Given the description of an element on the screen output the (x, y) to click on. 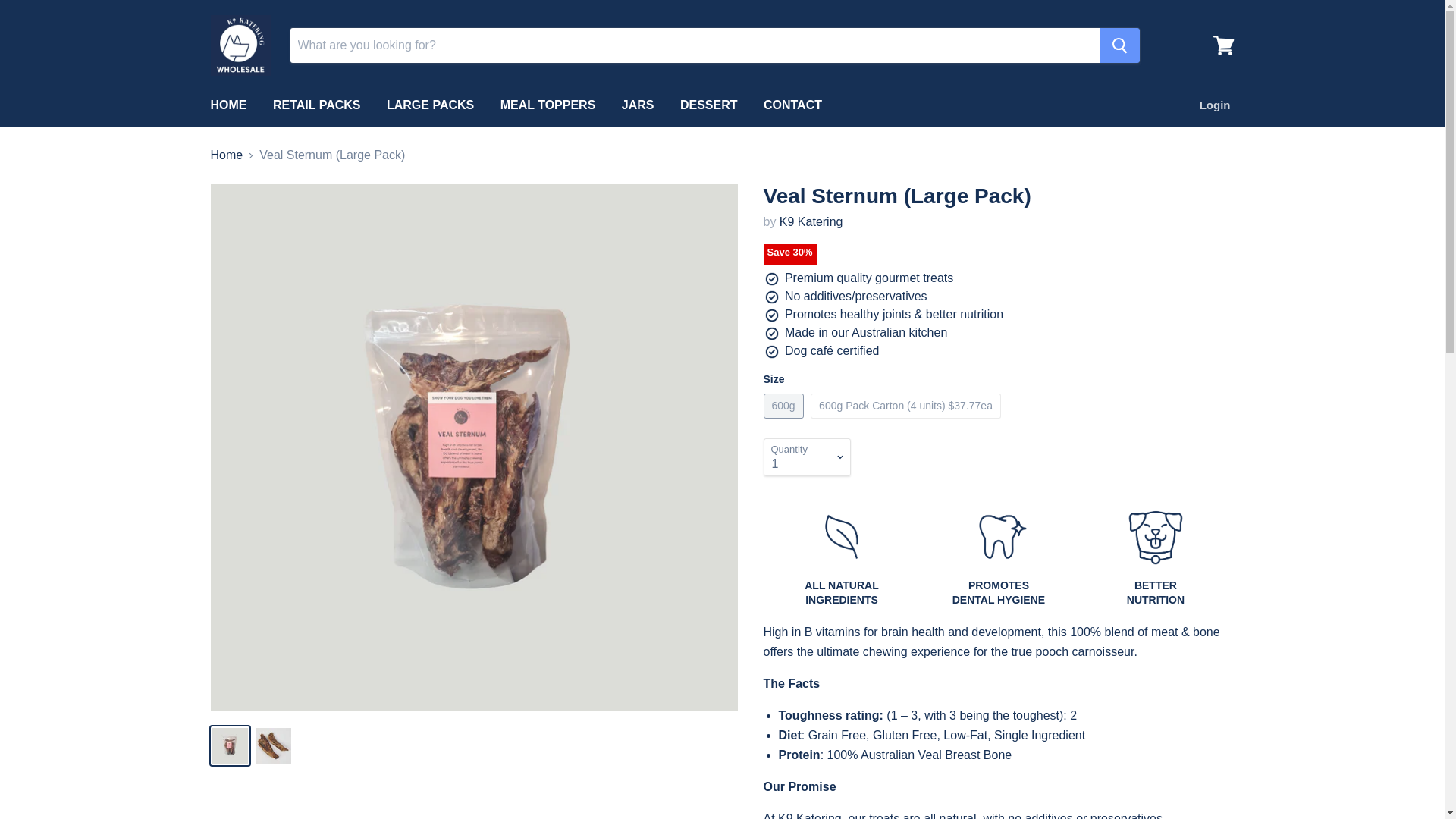
CONTACT (792, 105)
K9 Katering (810, 221)
Home (227, 155)
MEAL TOPPERS (548, 105)
DESSERT (708, 105)
HOME (227, 105)
JARS (637, 105)
View cart (1223, 45)
RETAIL PACKS (317, 105)
K9 Katering (810, 221)
